Given the description of an element on the screen output the (x, y) to click on. 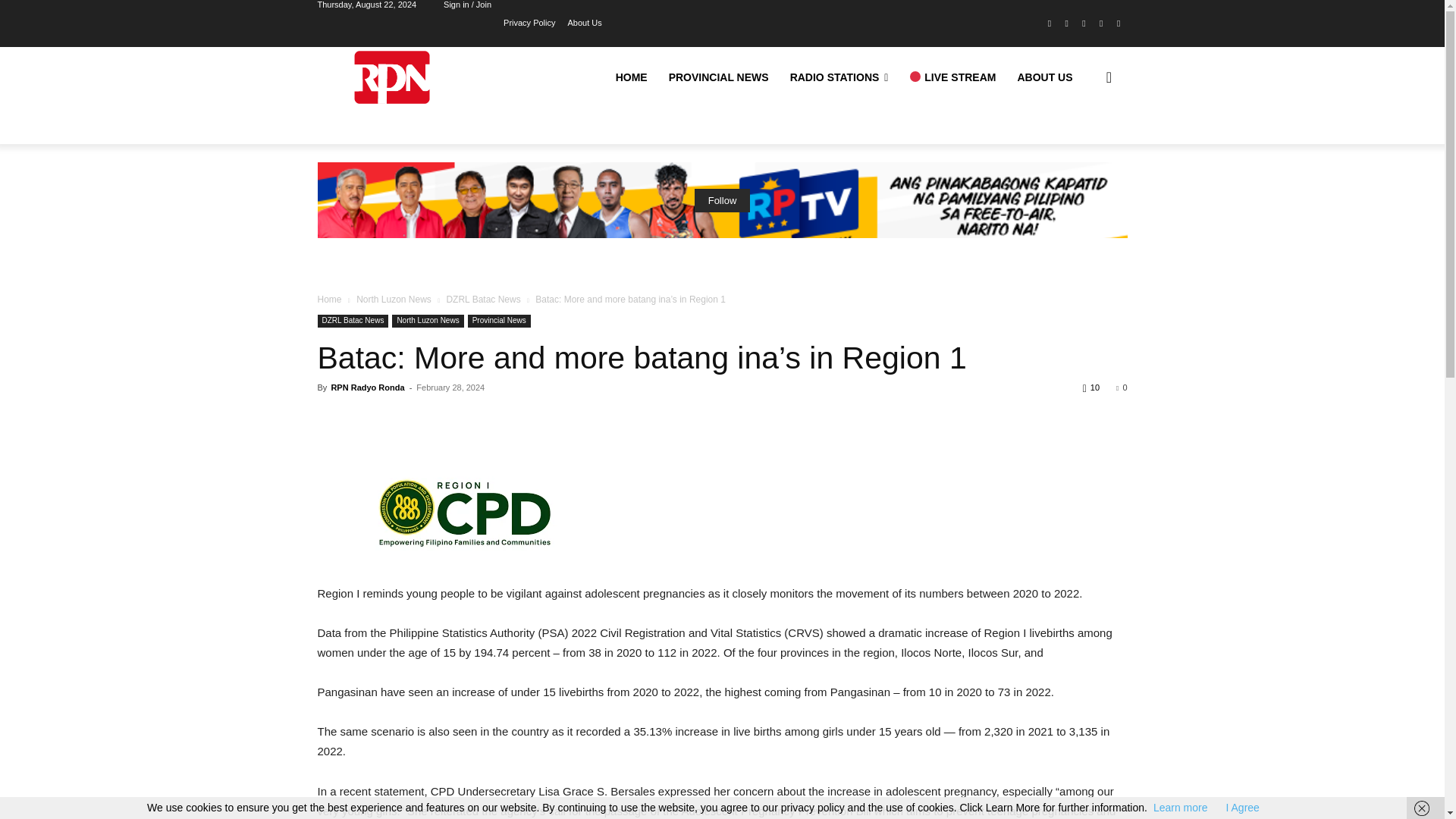
Youtube (1117, 23)
Facebook (1049, 23)
TikTok (1084, 23)
PROVINCIAL NEWS (718, 76)
About Us (584, 22)
RADIO STATIONS (838, 76)
Twitter (1101, 23)
Instagram (1066, 23)
Privacy Policy (528, 22)
